Given the description of an element on the screen output the (x, y) to click on. 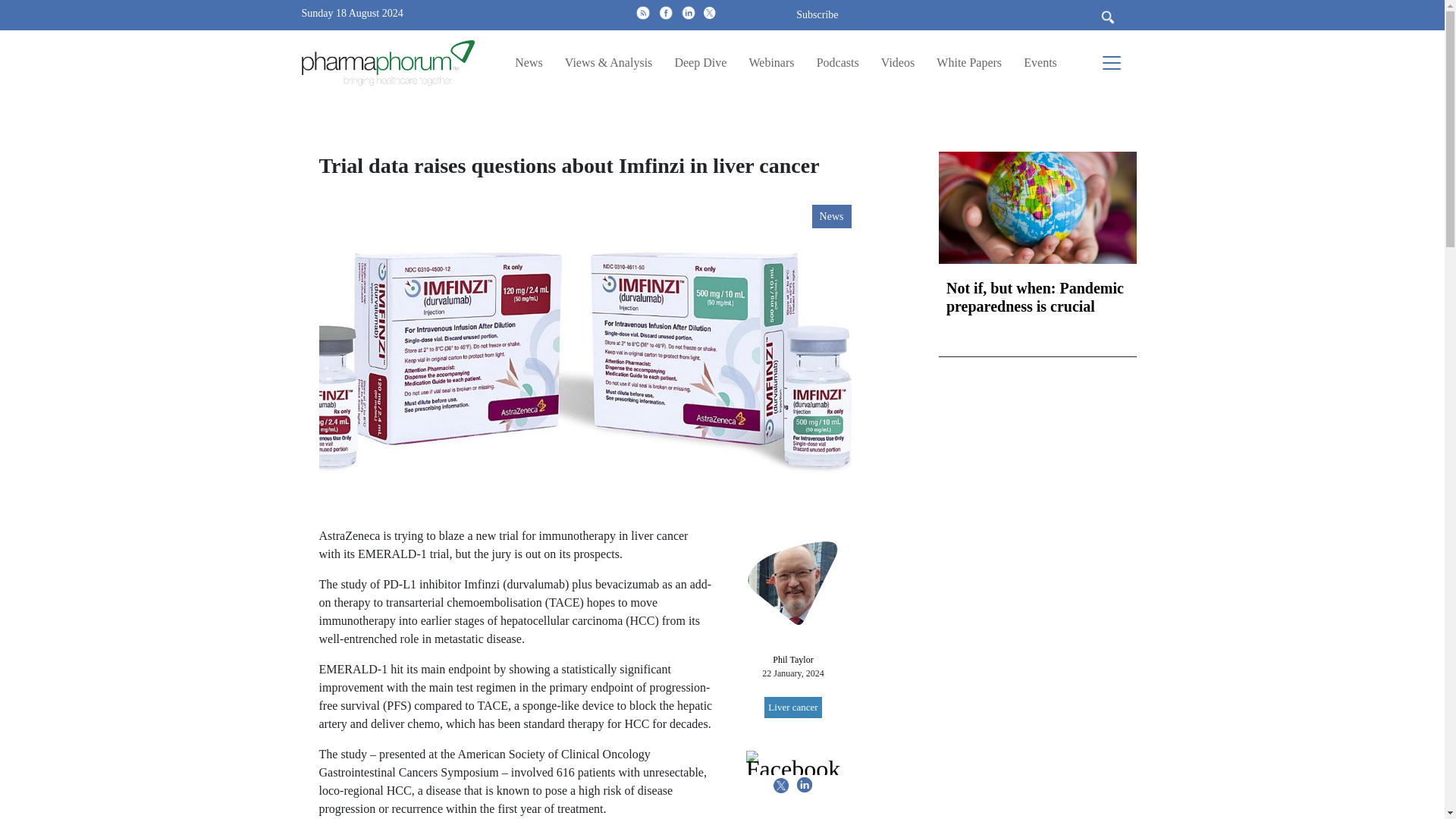
Podcasts (837, 62)
Subscribe (817, 14)
rss (642, 12)
facebook (665, 12)
Home (394, 62)
White Papers (968, 62)
rss (642, 12)
facebook (665, 12)
News (528, 62)
